Given the description of an element on the screen output the (x, y) to click on. 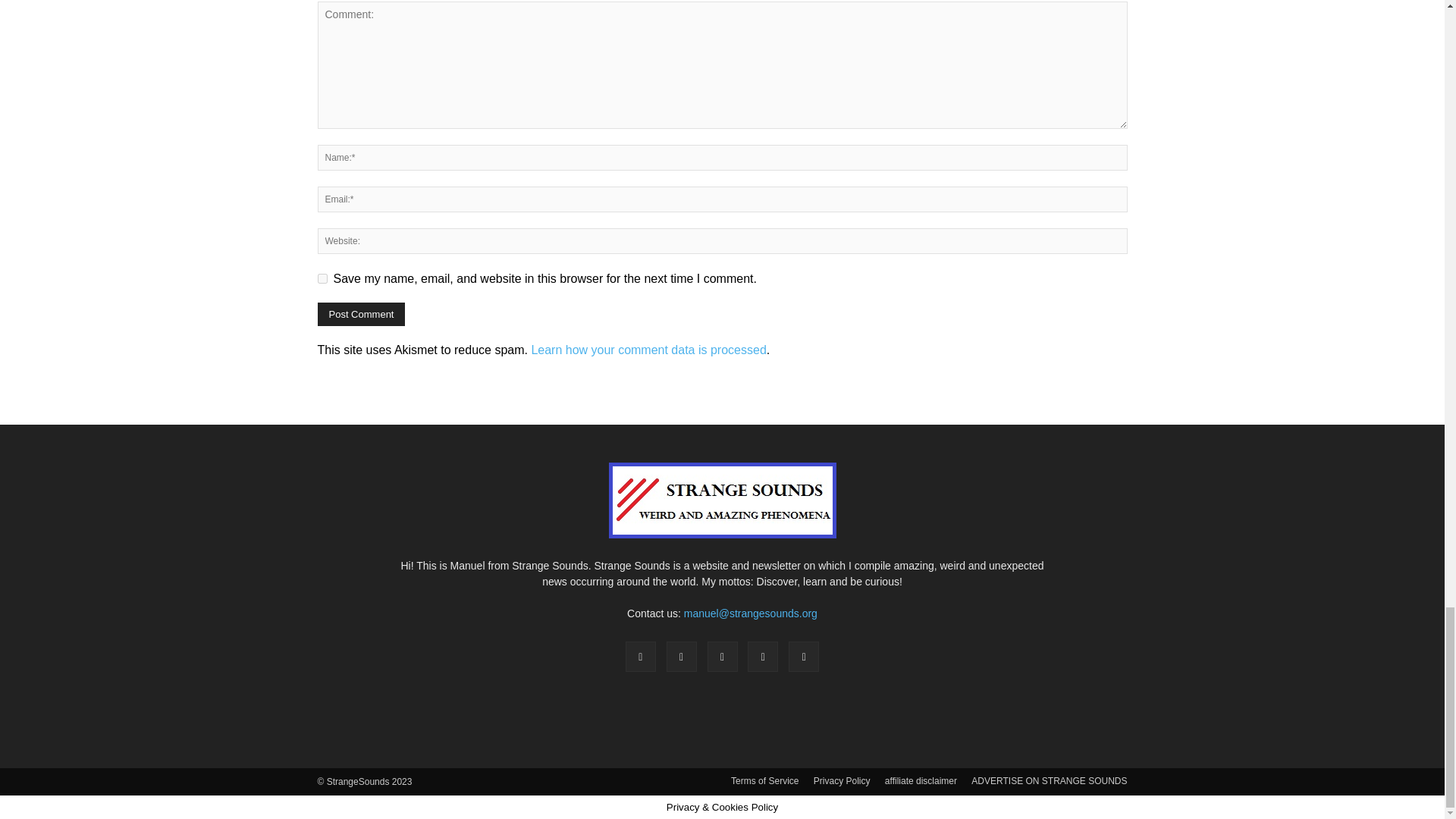
Post Comment (360, 313)
yes (321, 278)
